Given the description of an element on the screen output the (x, y) to click on. 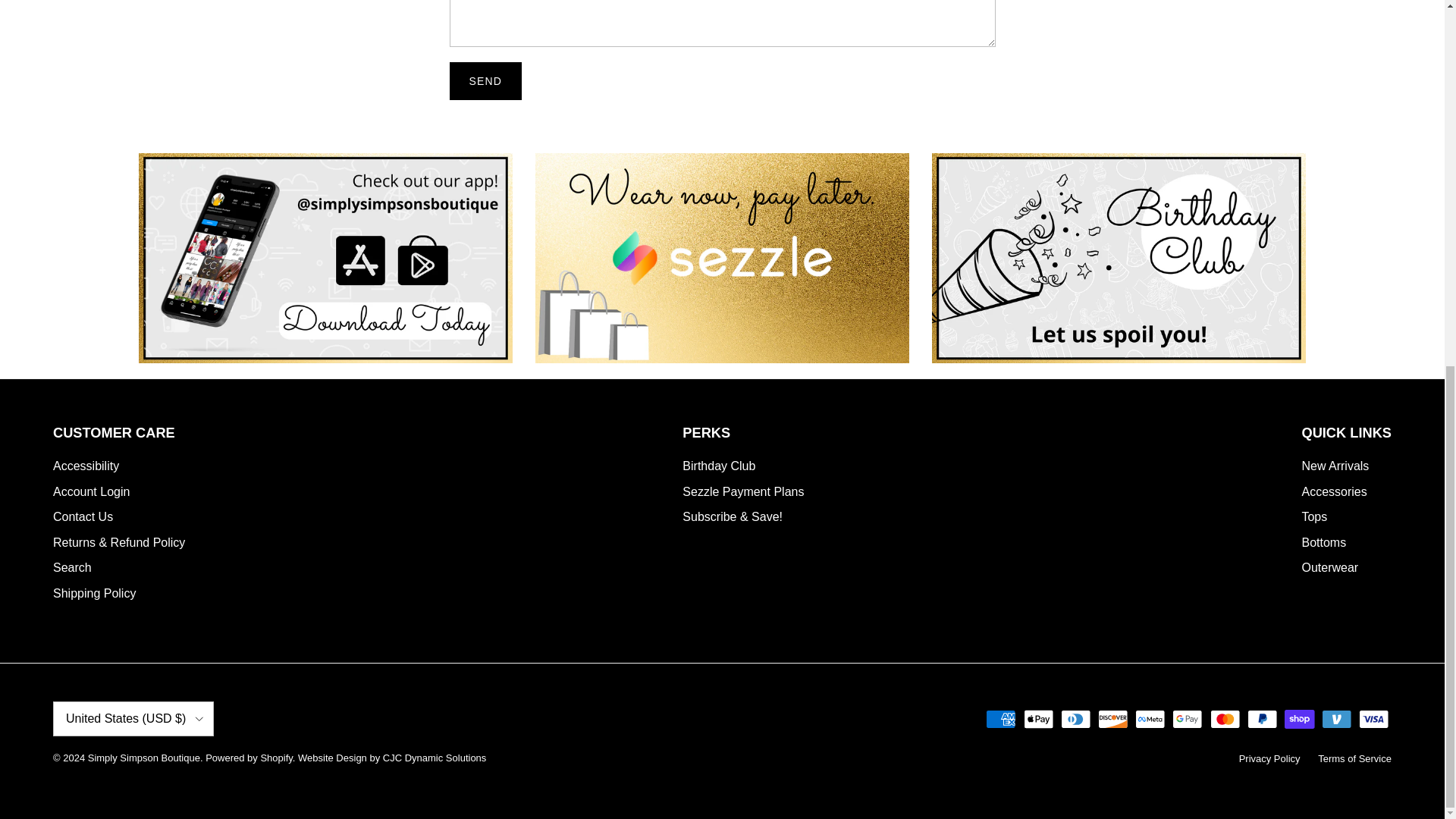
PayPal (1261, 719)
Discover (1112, 719)
Diners Club (1075, 719)
Mastercard (1224, 719)
Apple Pay (1038, 719)
Shop Pay (1299, 719)
Google Pay (1187, 719)
Visa (1373, 719)
Meta Pay (1149, 719)
American Express (1000, 719)
Venmo (1336, 719)
